Given the description of an element on the screen output the (x, y) to click on. 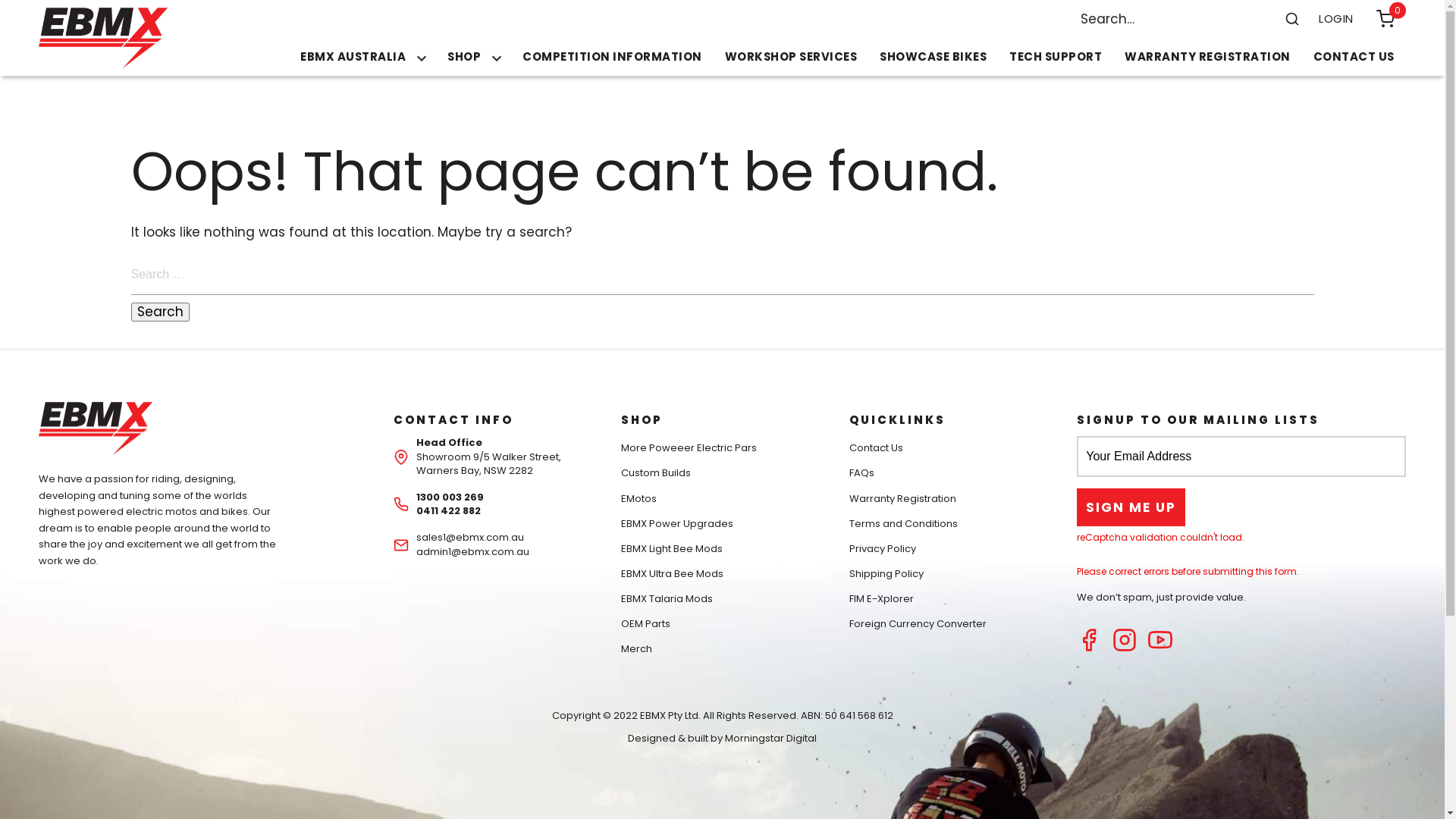
Merch Element type: text (636, 648)
Youtube Element type: hover (1160, 647)
FIM E-Xplorer Element type: text (881, 598)
SHOP Element type: text (473, 56)
EBMX Ultra Bee Mods Element type: text (672, 573)
TECH SUPPORT Element type: text (1055, 56)
COMPETITION INFORMATION Element type: text (612, 56)
Search Element type: text (1291, 18)
CONTACT US Element type: text (1353, 56)
Terms and Conditions Element type: text (903, 523)
0411 422 882 Element type: text (448, 510)
0 Element type: text (1385, 18)
Search Element type: text (159, 312)
1300 003 269 Element type: text (449, 496)
WARRANTY REGISTRATION Element type: text (1207, 56)
FAQs Element type: text (861, 472)
Sign Me Up Element type: text (1130, 507)
Shipping Policy Element type: text (886, 573)
Instagram Element type: hover (1124, 647)
EBMX Light Bee Mods Element type: text (671, 548)
Contact Us Element type: text (876, 447)
Morningstar Digital Element type: text (770, 738)
EBMX AUSTRALIA Element type: text (362, 56)
admin1@ebmx.com.au Element type: text (472, 551)
EBMX Power Upgrades Element type: text (677, 523)
LOGIN Element type: text (1336, 18)
SHOWCASE BIKES Element type: text (932, 56)
More Poweeer Electric Pars Element type: text (688, 447)
WORKSHOP SERVICES Element type: text (791, 56)
Custom Builds Element type: text (655, 472)
Foreign Currency Converter Element type: text (917, 623)
sales1@ebmx.com.au Element type: text (470, 537)
Privacy Policy Element type: text (882, 548)
Warranty Registration Element type: text (902, 498)
OEM Parts Element type: text (645, 623)
EMotos Element type: text (638, 498)
EBMX Talaria Mods Element type: text (666, 598)
Facebook Element type: hover (1088, 647)
